Given the description of an element on the screen output the (x, y) to click on. 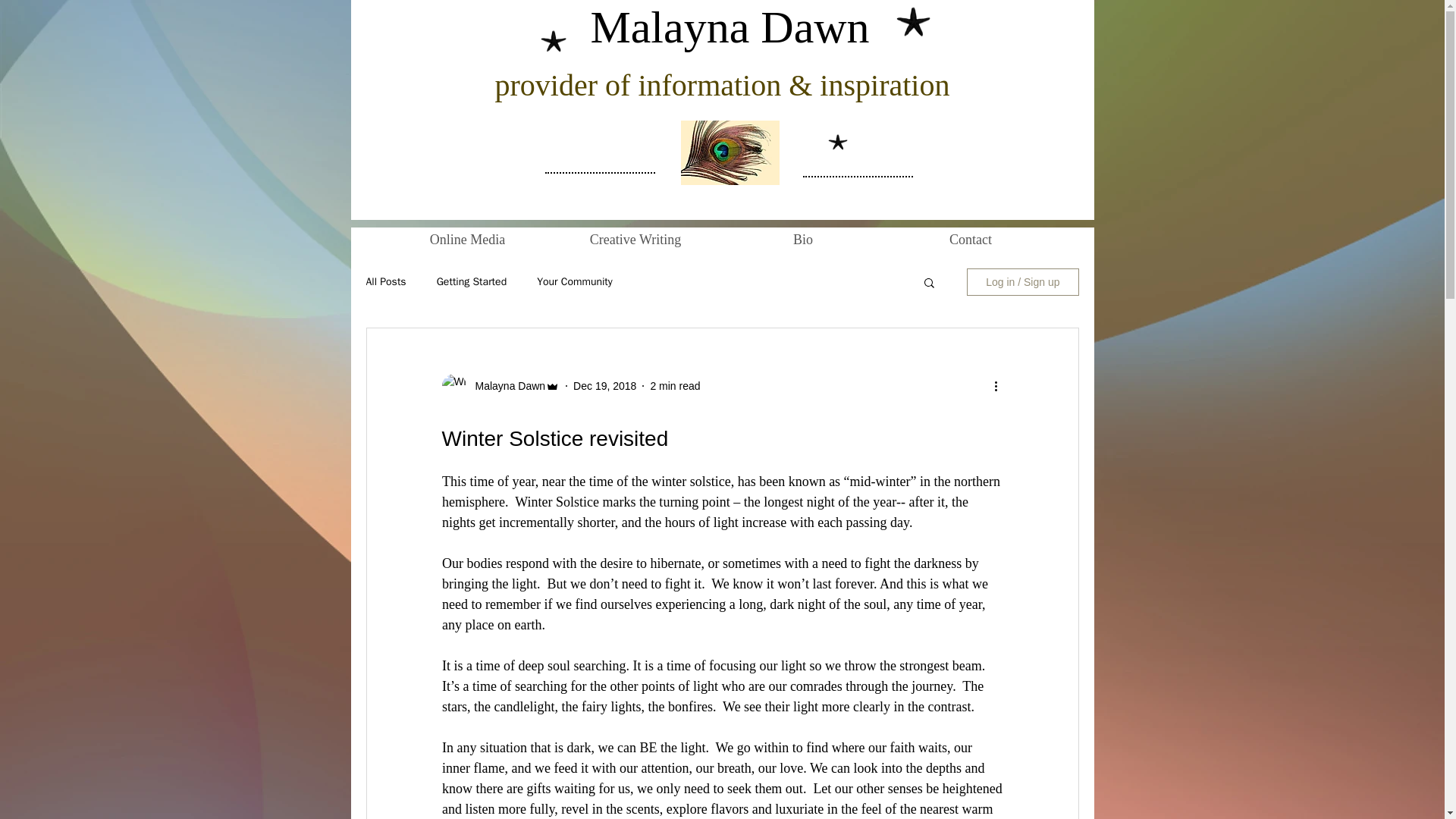
Contact (970, 239)
Dec 19, 2018 (604, 385)
2 min read (674, 385)
Bio (802, 239)
Online Media (467, 239)
Your Community (574, 282)
Malayna Dawn (504, 385)
Creative Writing (635, 239)
peacock feather (729, 152)
Getting Started (471, 282)
All Posts (385, 282)
